Given the description of an element on the screen output the (x, y) to click on. 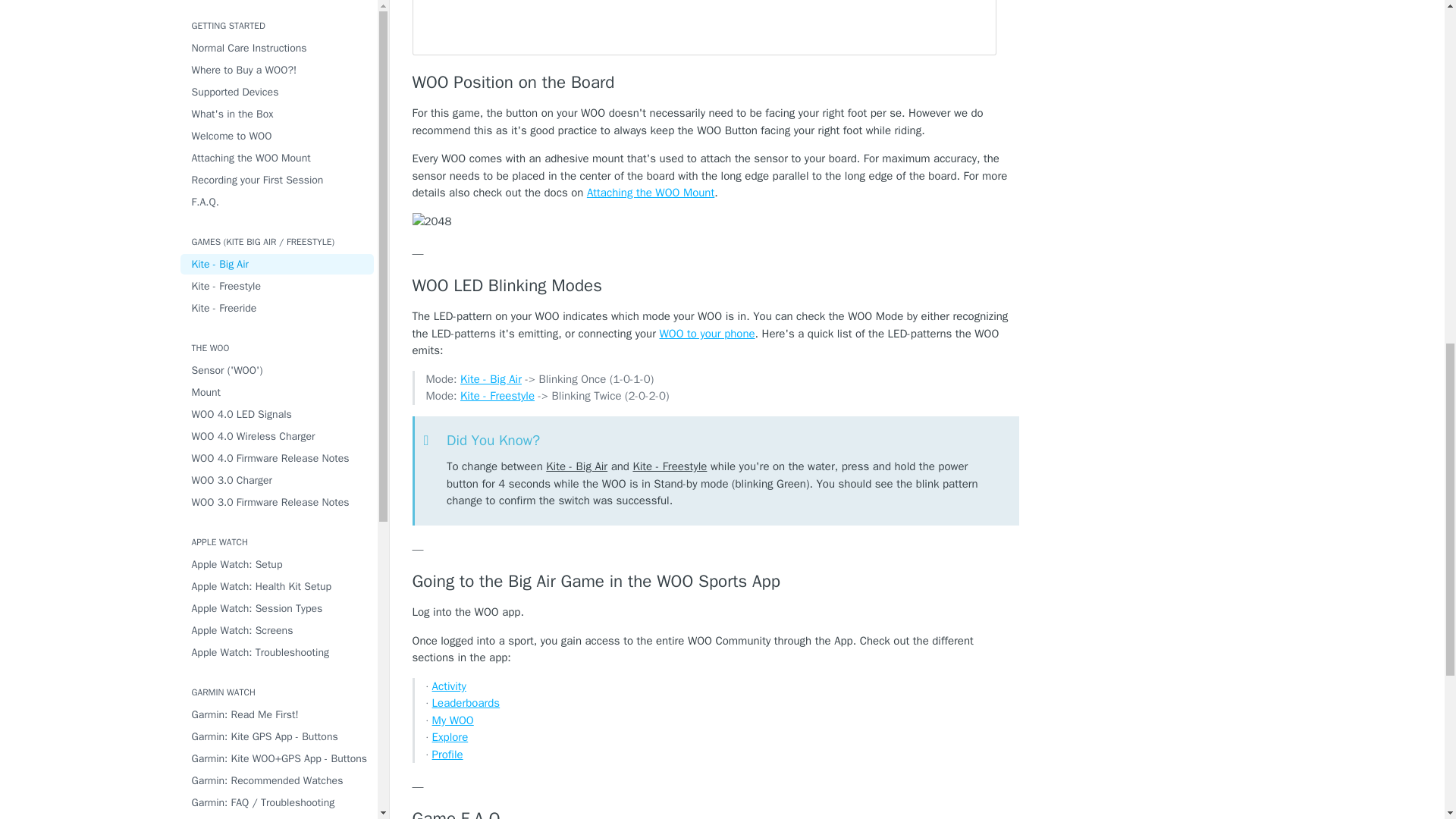
WOO LED Blinking Modes (715, 285)
Game F.A.Q. (715, 813)
WOO Position on the Board (715, 82)
Going to the Big Air Game in the WOO Sports App (715, 581)
